Given the description of an element on the screen output the (x, y) to click on. 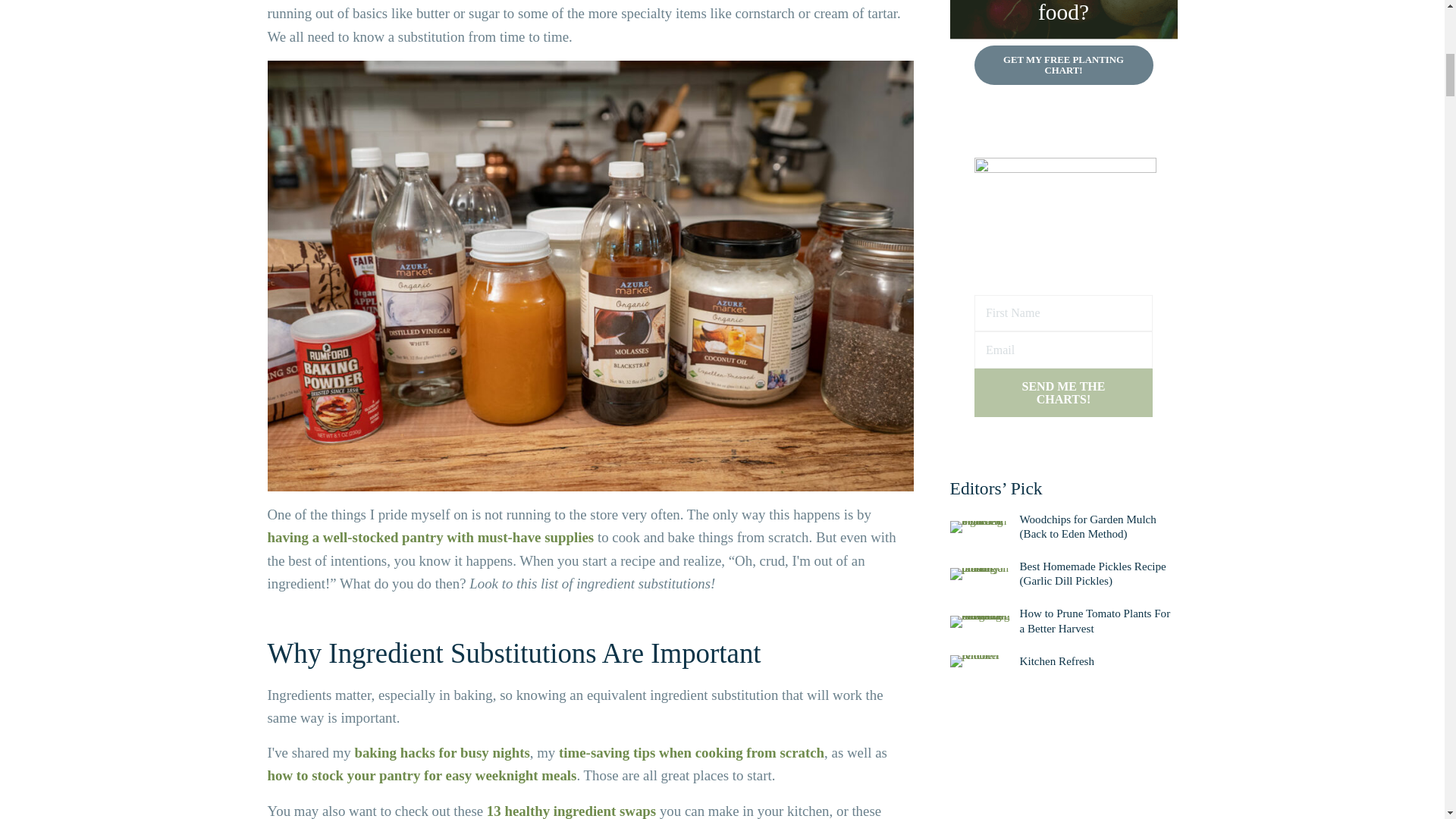
time-saving tips when cooking from scratch (691, 752)
Shift-click to edit this widget. (1062, 728)
13 healthy ingredient swaps (571, 811)
baking hacks for busy nights (441, 752)
having a well-stocked pantry with must-have supplies (430, 537)
how to stock your pantry for easy weeknight meals (421, 774)
